Given the description of an element on the screen output the (x, y) to click on. 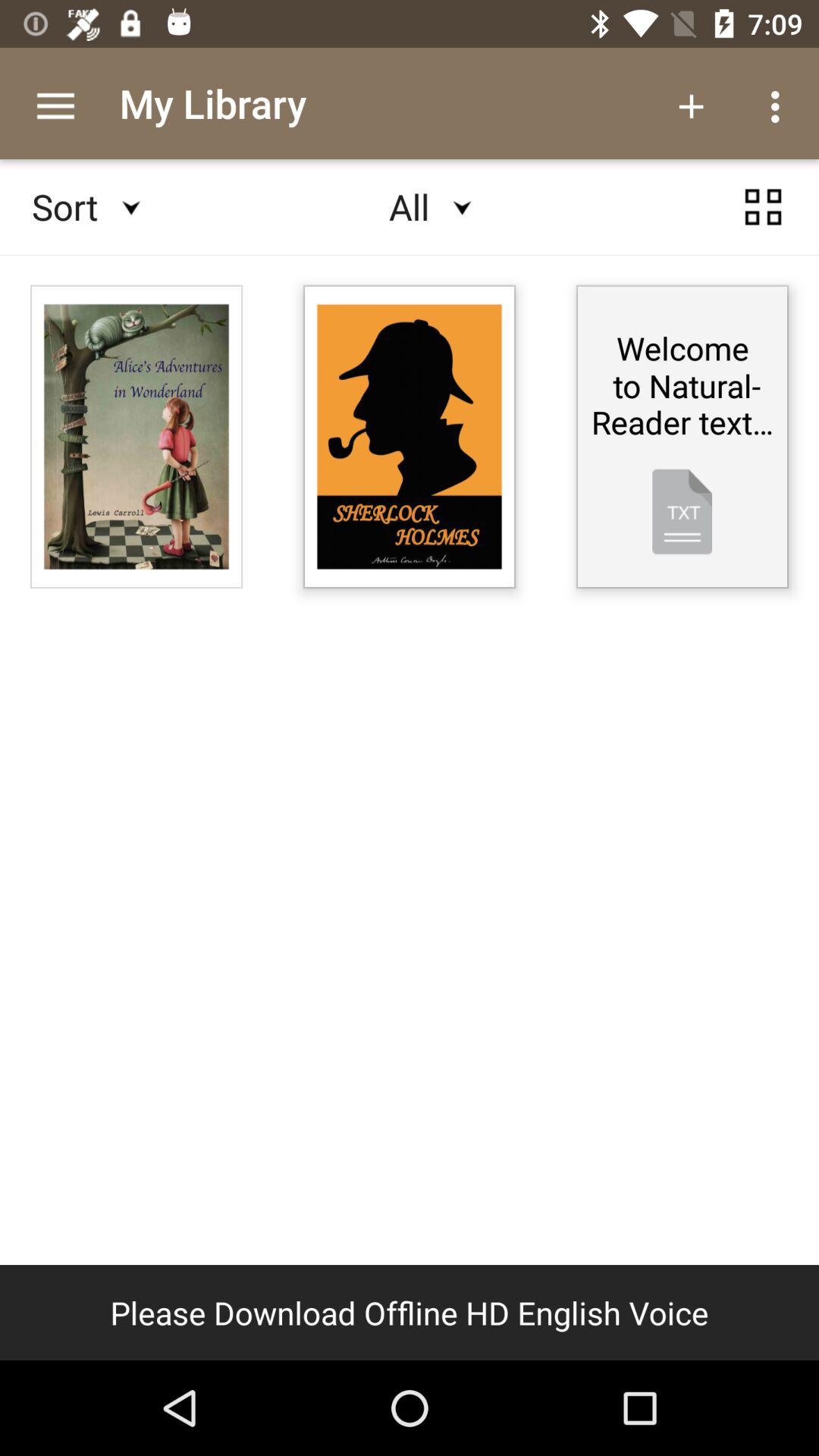
settings page (763, 206)
